Given the description of an element on the screen output the (x, y) to click on. 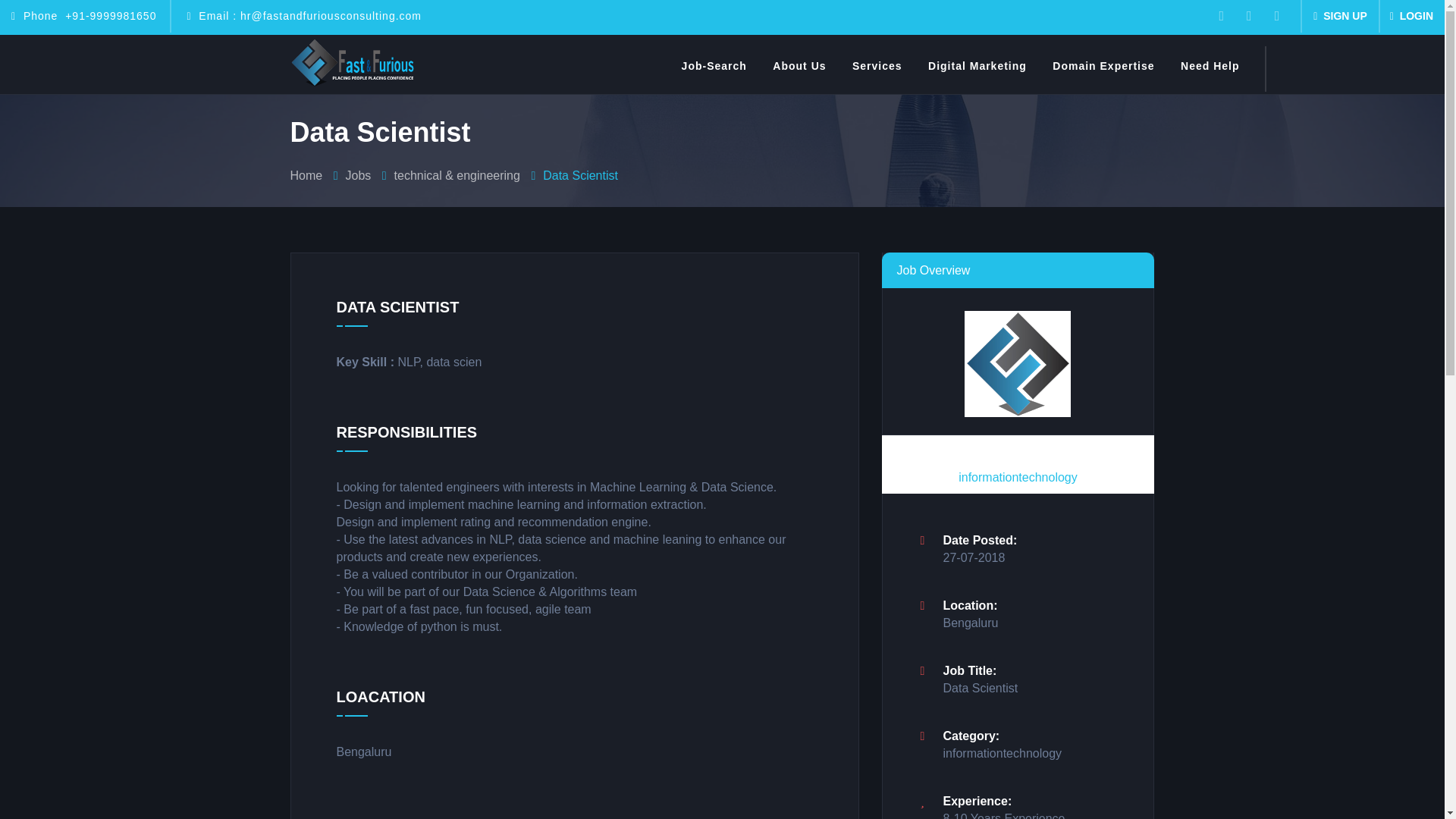
fastandfuriousconsulting (351, 64)
Services (880, 71)
About Us (803, 71)
Digital Marketing (981, 71)
Domain Expertise (1107, 71)
Home (305, 174)
Job-Search (717, 71)
  SIGN UP (1340, 16)
Need Help (1213, 71)
  LOGIN (1411, 16)
Jobs (358, 174)
